Given the description of an element on the screen output the (x, y) to click on. 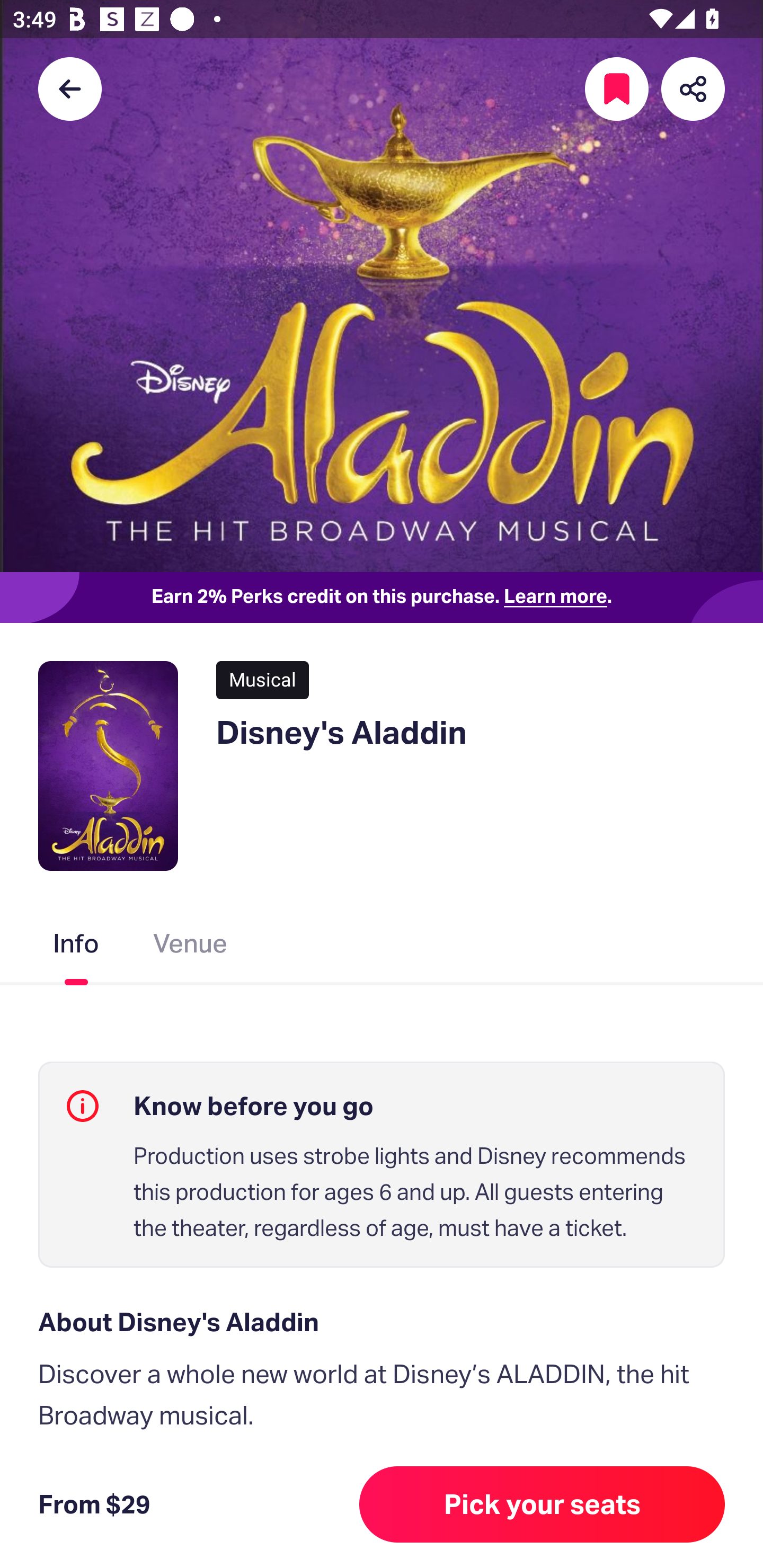
Earn 2% Perks credit on this purchase. Learn more. (381, 597)
Venue (190, 946)
About Disney's Aladdin (381, 1322)
Pick your seats (541, 1504)
